Given the description of an element on the screen output the (x, y) to click on. 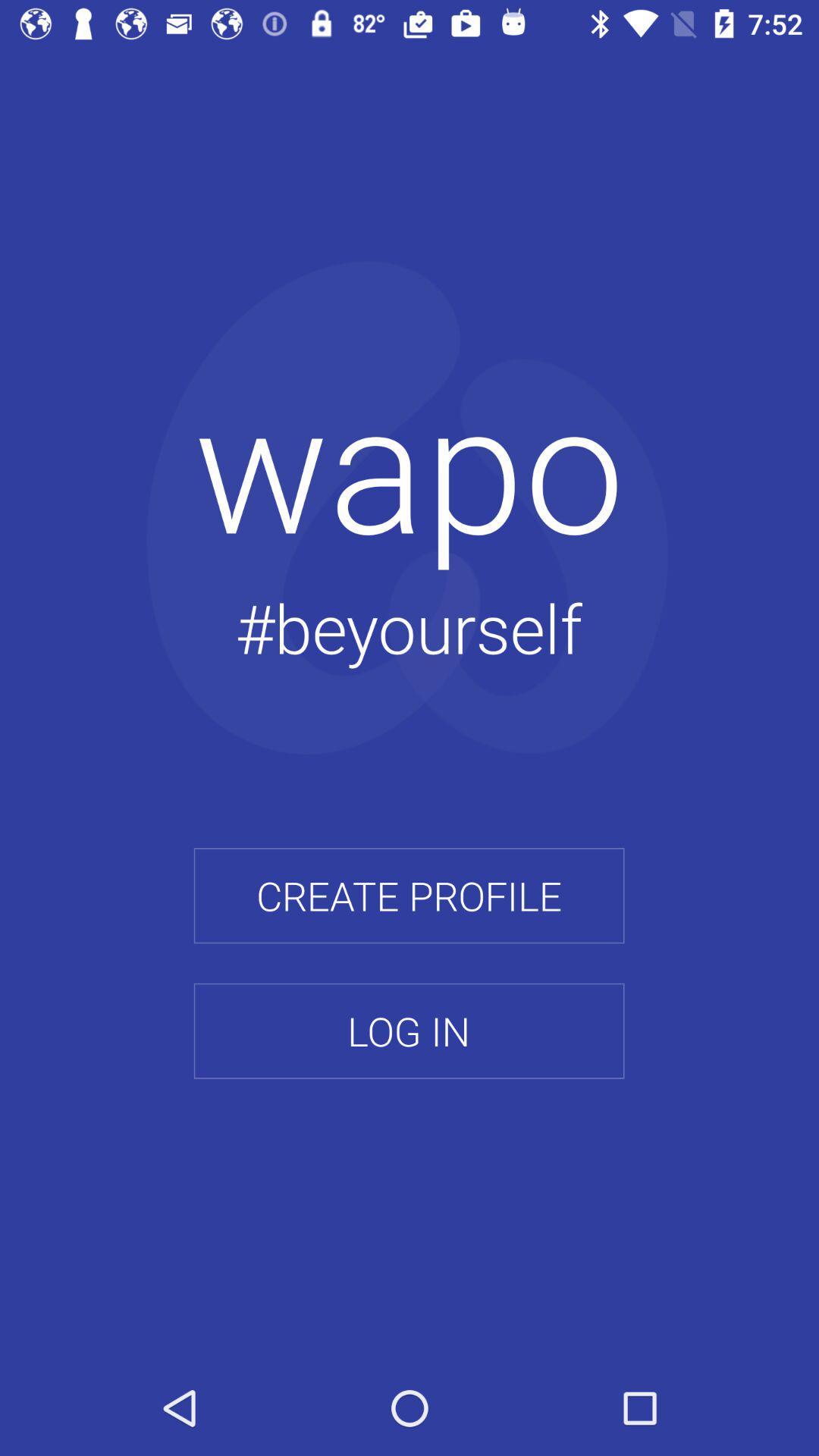
launch the create profile icon (408, 895)
